Given the description of an element on the screen output the (x, y) to click on. 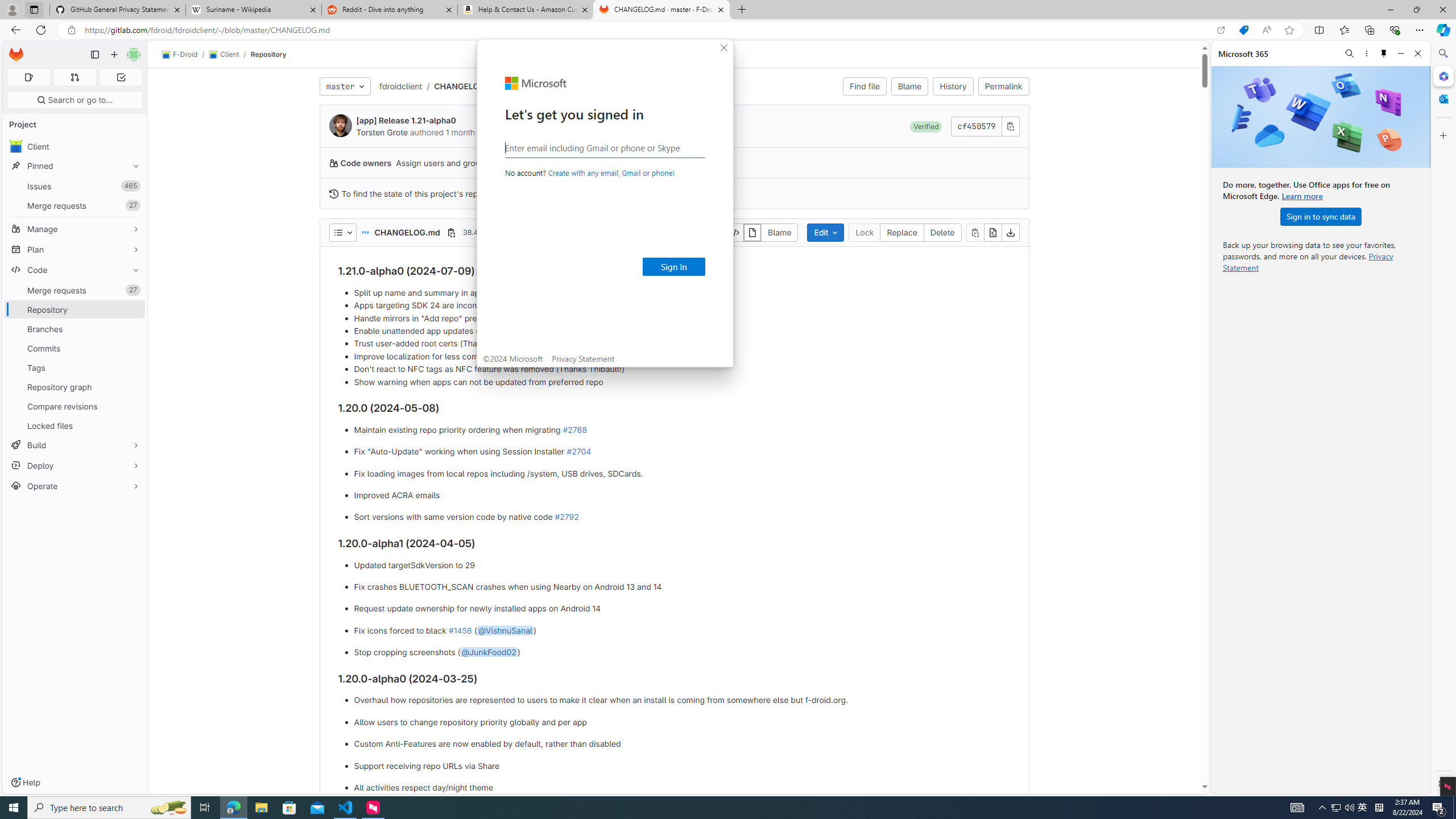
Download (1010, 232)
Class: s16 gl-mr-1 gl-align-text-bottom (333, 193)
Pin Repository graph (132, 386)
Notification Chevron (1322, 807)
Support receiving repo URLs via Share (681, 765)
Edit (825, 232)
F-Droid (179, 54)
fdroidclient (400, 85)
Pin Branches (132, 328)
Homepage (16, 54)
@VishnuSanal (504, 629)
Learn more about Microsoft Office. (1302, 195)
Create with any email, Gmail or phone! (611, 172)
Client (223, 54)
